Given the description of an element on the screen output the (x, y) to click on. 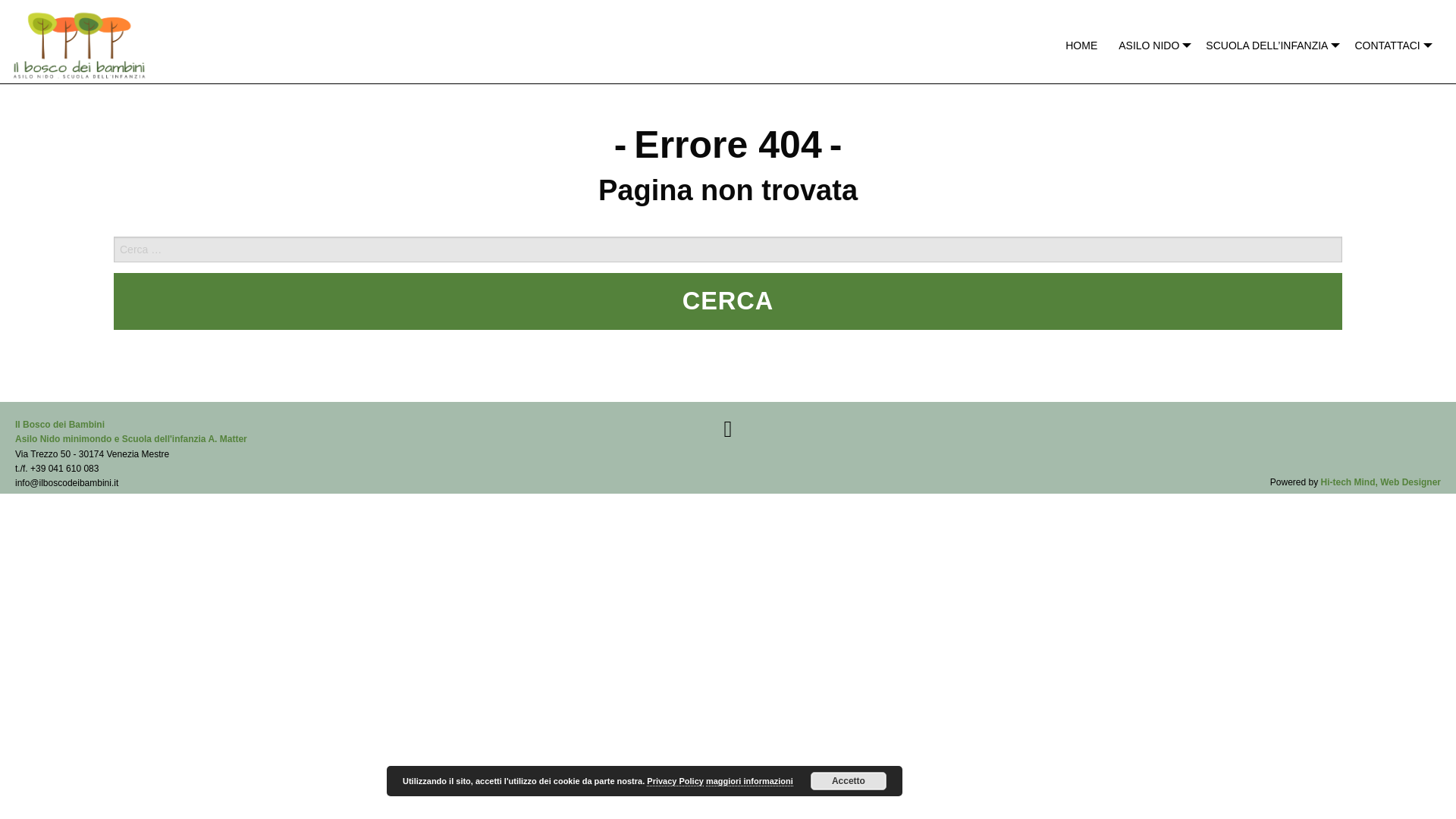
Il Bosco Dei bambini (79, 40)
Cerca (727, 301)
Cerca (727, 301)
Hi-tech Mind, Web Designer (1380, 481)
Privacy Policy (674, 781)
Hi-tech Mind, Web Designer (1380, 481)
Il Bosco Dei Bmbini (130, 431)
Cerca (727, 301)
ASILO NIDO (1151, 45)
